Given the description of an element on the screen output the (x, y) to click on. 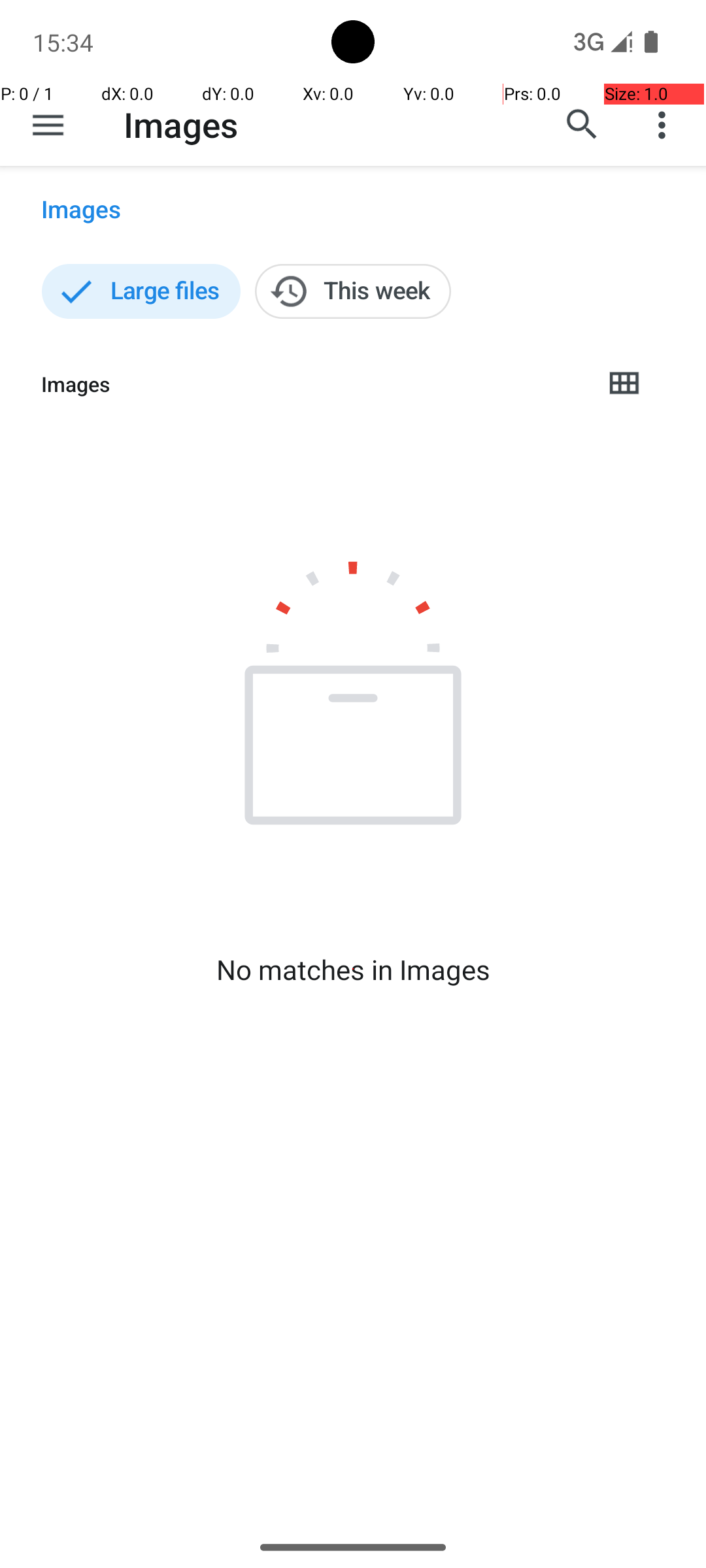
Show roots Element type: android.widget.ImageButton (48, 124)
Images Element type: android.widget.TextView (180, 124)
Grid view Element type: android.widget.TextView (622, 384)
Large files Element type: android.widget.CompoundButton (140, 291)
This week Element type: android.widget.CompoundButton (352, 291)
No matches in Images Element type: android.widget.TextView (353, 968)
